Given the description of an element on the screen output the (x, y) to click on. 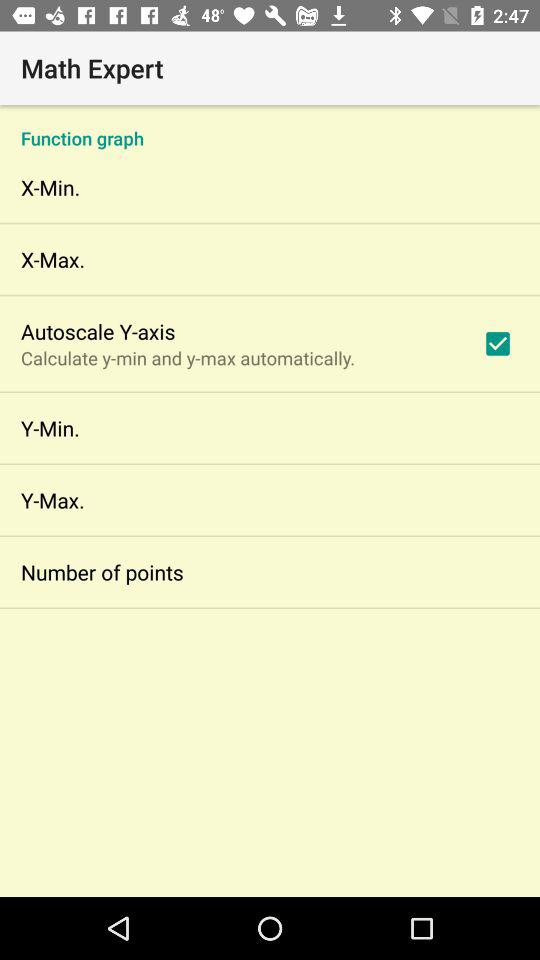
select app below function graph app (497, 343)
